Given the description of an element on the screen output the (x, y) to click on. 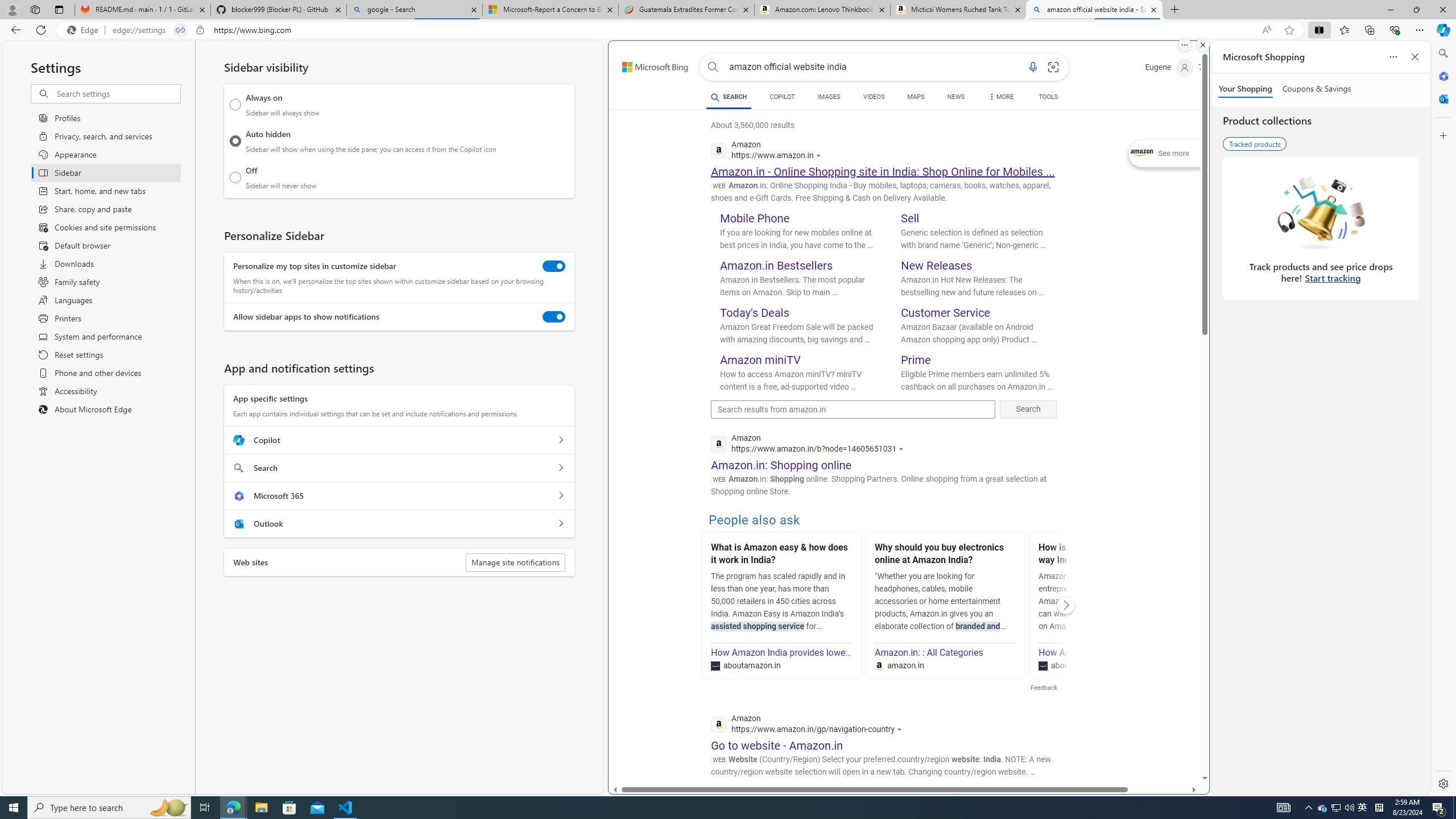
Personalize my top sites in customize sidebar (553, 265)
Search more (1179, 744)
